Given the description of an element on the screen output the (x, y) to click on. 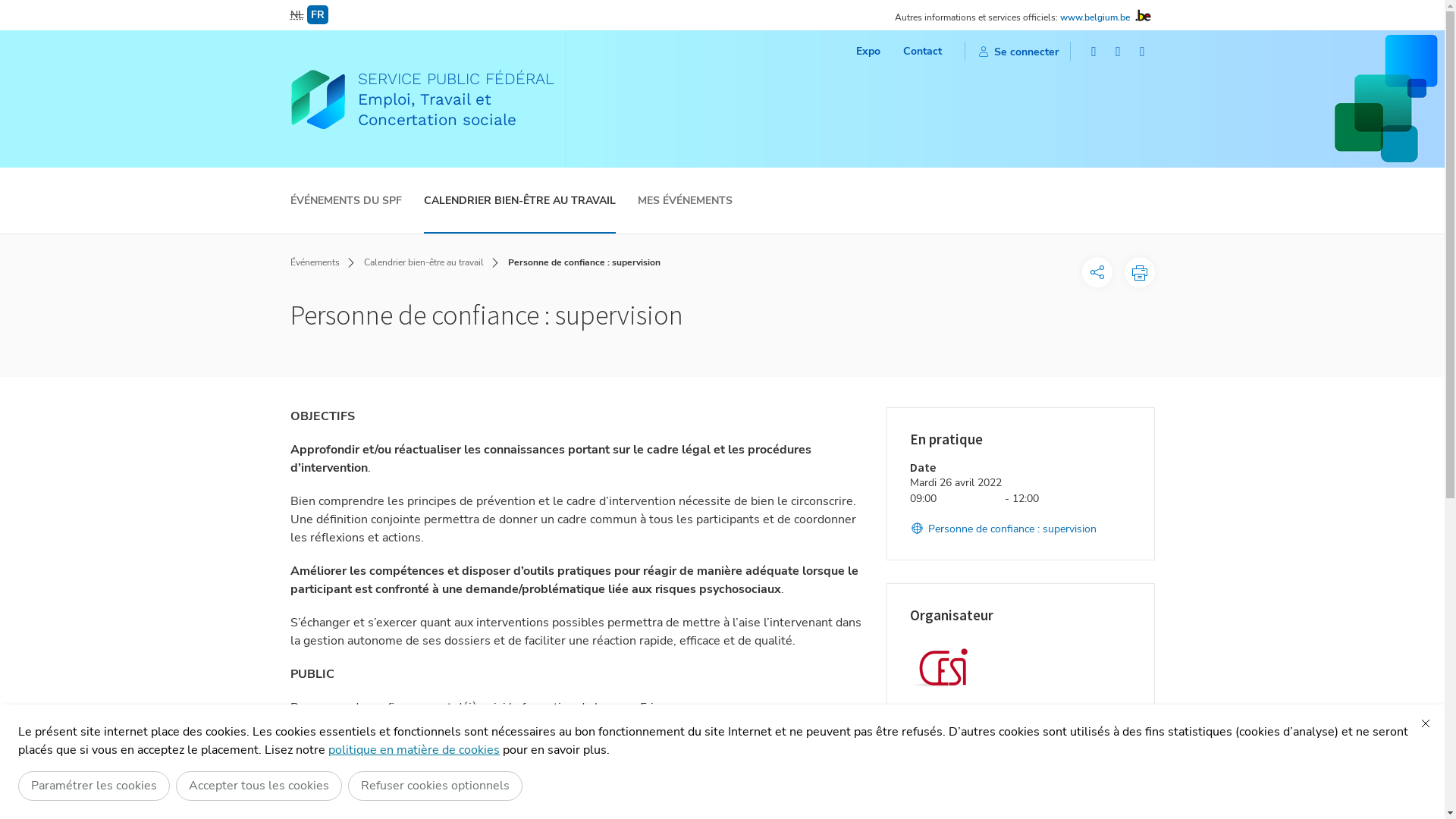
Site web de CESI Element type: text (960, 760)
ALLER AU CONTENU PRINCIPAL Element type: text (721, 7)
Se connecter Element type: text (1017, 51)
Refuser cookies optionnels Element type: text (435, 785)
Imprimer cette page Element type: text (1138, 272)
Twitter Element type: text (1118, 51)
FR Element type: text (316, 14)
Accepter tous les cookies Element type: text (258, 785)
www.belgium.be Element type: text (1094, 17)
Options de partage Element type: text (1096, 272)
Contact Element type: text (921, 50)
Facebook Element type: text (1094, 51)
LinkedIn Element type: text (1142, 51)
Personne de confiance : supervision Element type: text (1003, 528)
Expo Element type: text (867, 50)
Fermer Element type: hover (1425, 723)
